Given the description of an element on the screen output the (x, y) to click on. 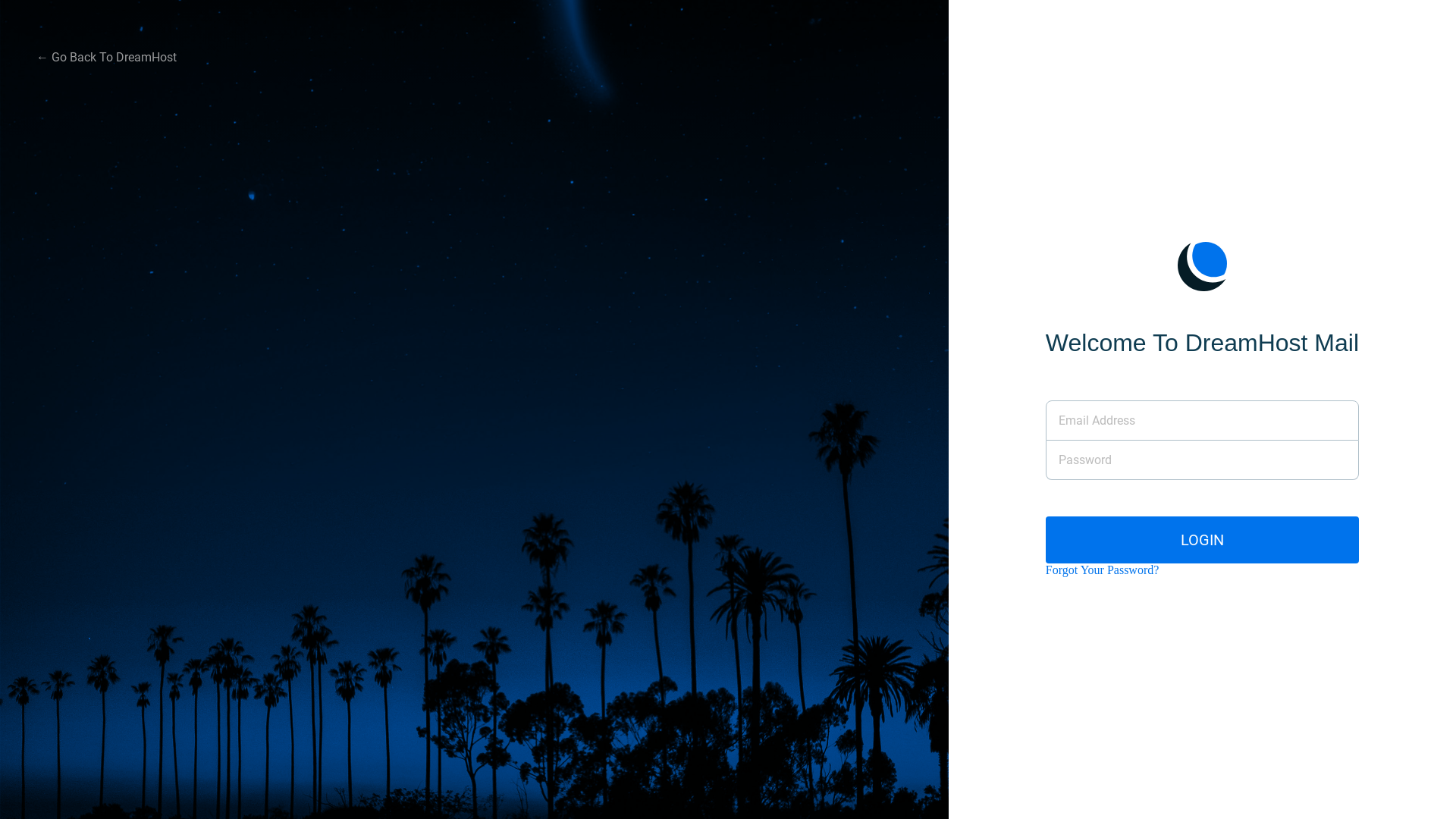
LOGIN Element type: text (1201, 539)
Forgot Your Password? Element type: text (1102, 569)
